Given the description of an element on the screen output the (x, y) to click on. 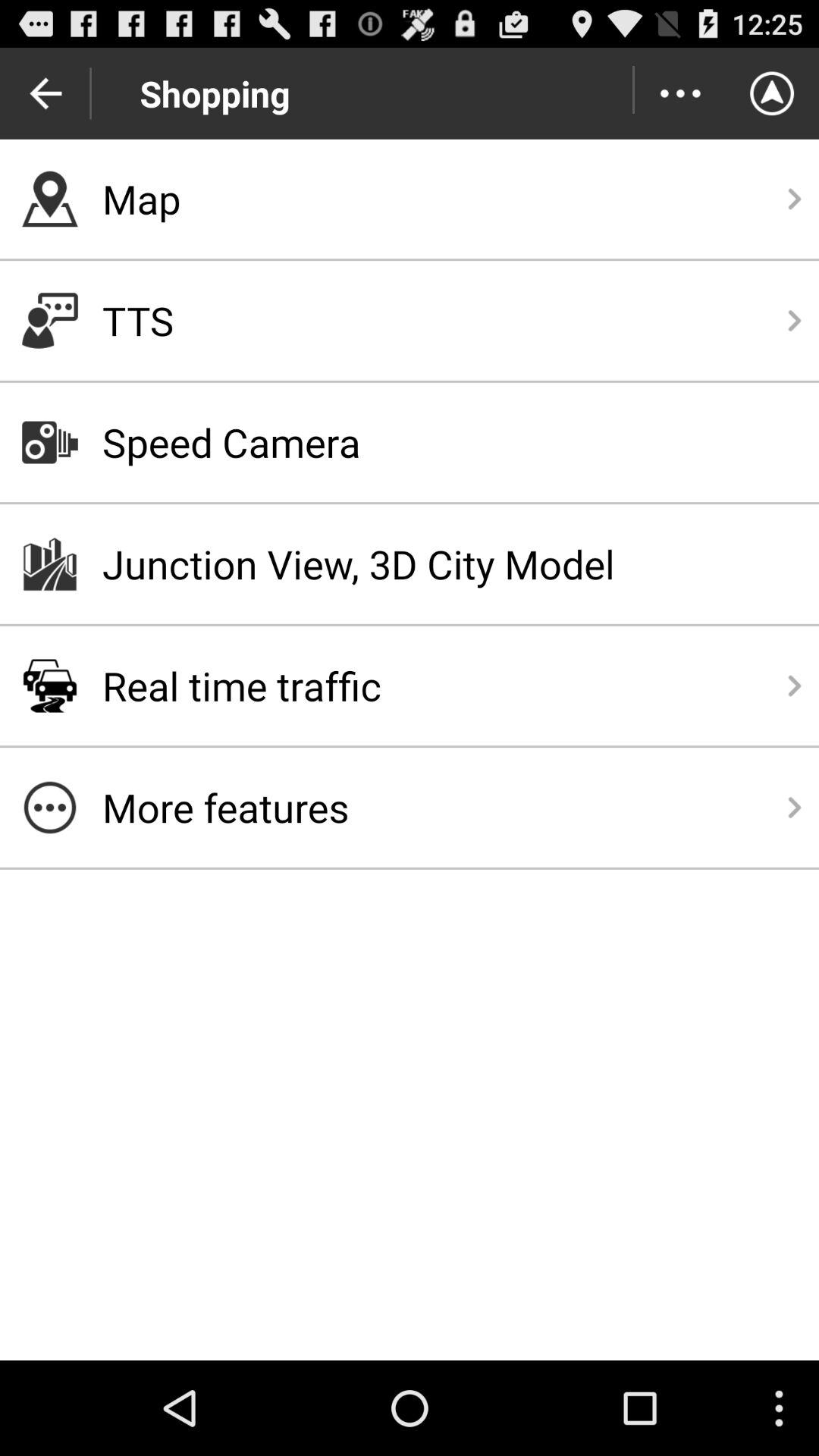
press the app above the map (680, 93)
